Given the description of an element on the screen output the (x, y) to click on. 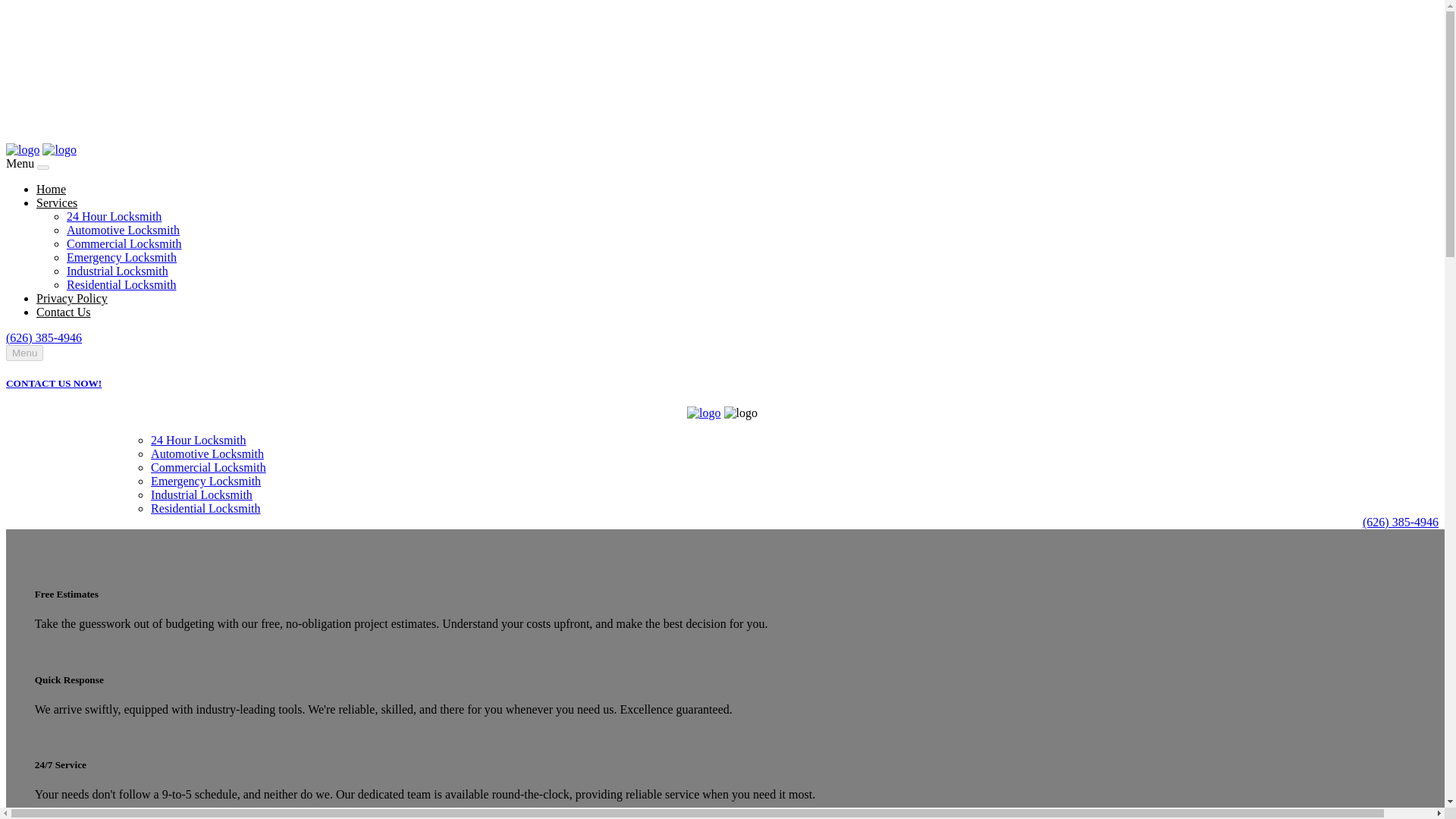
Privacy Policy (71, 297)
Residential Locksmith (121, 284)
Privacy Policy (388, 426)
Home (22, 426)
Commercial Locksmith (124, 243)
Menu (24, 352)
Automotive Locksmith (207, 453)
Industrial Locksmith (201, 494)
Emergency Locksmith (205, 481)
Automotive Locksmith (122, 229)
